Given the description of an element on the screen output the (x, y) to click on. 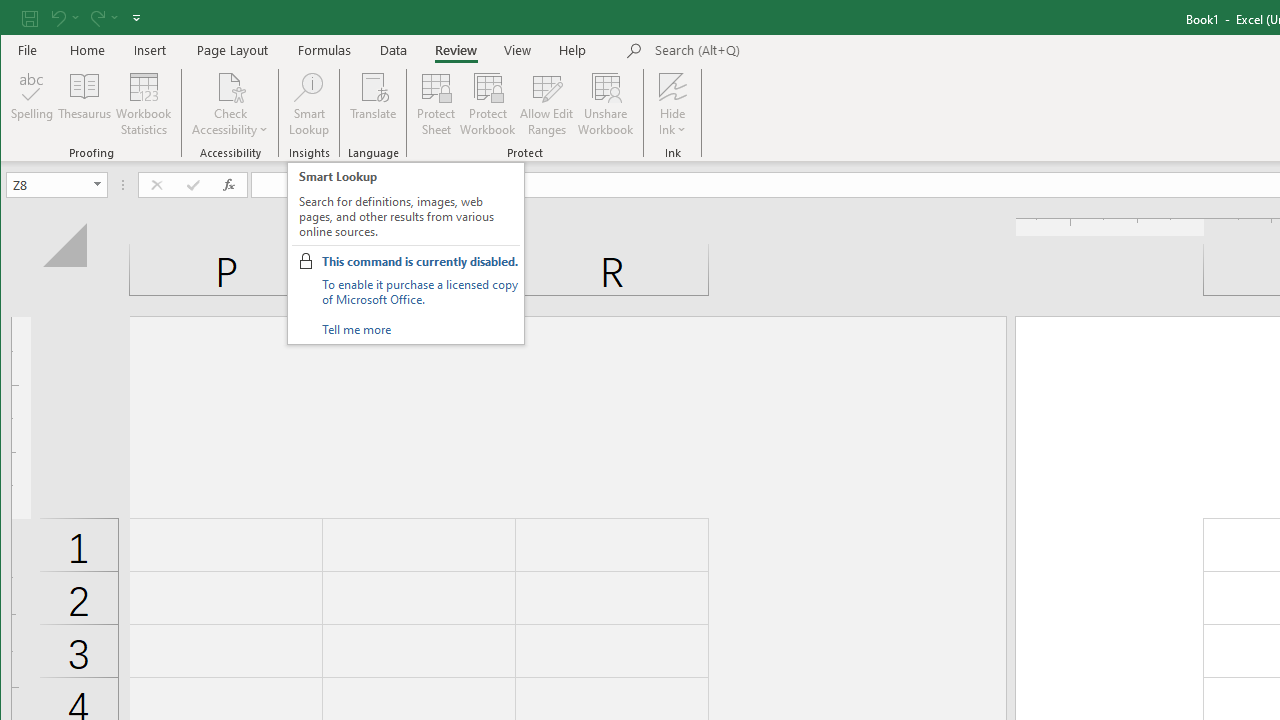
Smart Lookup (308, 104)
Check Accessibility (230, 104)
Check Accessibility (230, 86)
Quick Access Toolbar (83, 17)
Thesaurus... (84, 104)
Protect Workbook... (488, 104)
Home (87, 50)
Help (573, 50)
This command is currently disabled. (419, 261)
Hide Ink (672, 86)
